Given the description of an element on the screen output the (x, y) to click on. 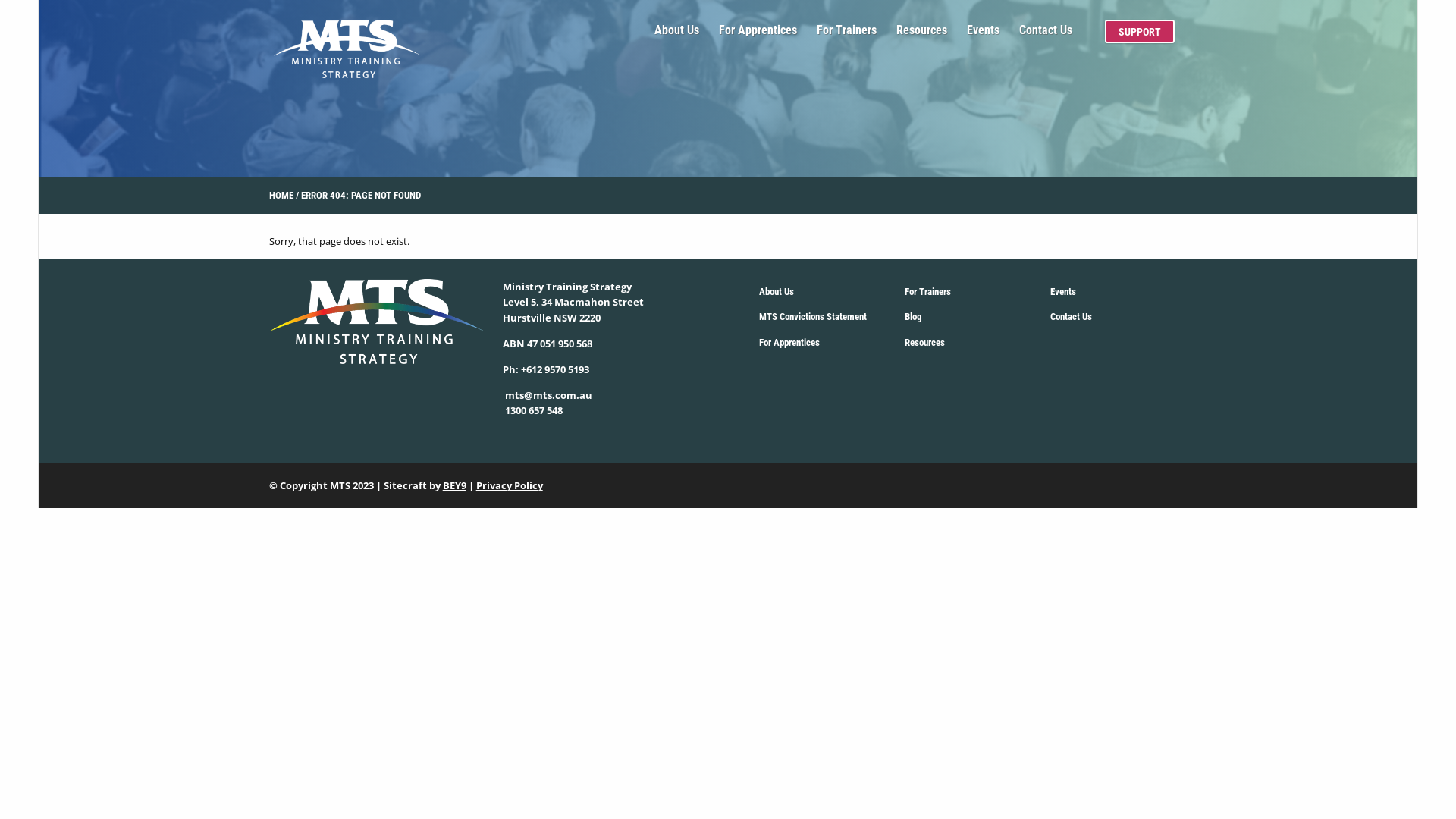
Contact Us Element type: text (1071, 316)
For Apprentices Element type: text (789, 342)
SUPPORT Element type: text (1139, 31)
BEY9 Element type: text (454, 485)
Resources Element type: text (924, 342)
About Us Element type: text (676, 36)
Privacy Policy Element type: text (509, 485)
About Us Element type: text (776, 291)
For Apprentices Element type: text (757, 36)
For Trainers Element type: text (846, 36)
Blog Element type: text (913, 316)
Contact Us Element type: text (1045, 36)
Resources Element type: text (921, 36)
For Trainers Element type: text (927, 291)
MTS Convictions Statement Element type: text (812, 316)
HOME Element type: text (281, 195)
Events Element type: text (982, 36)
Events Element type: text (1063, 291)
